Given the description of an element on the screen output the (x, y) to click on. 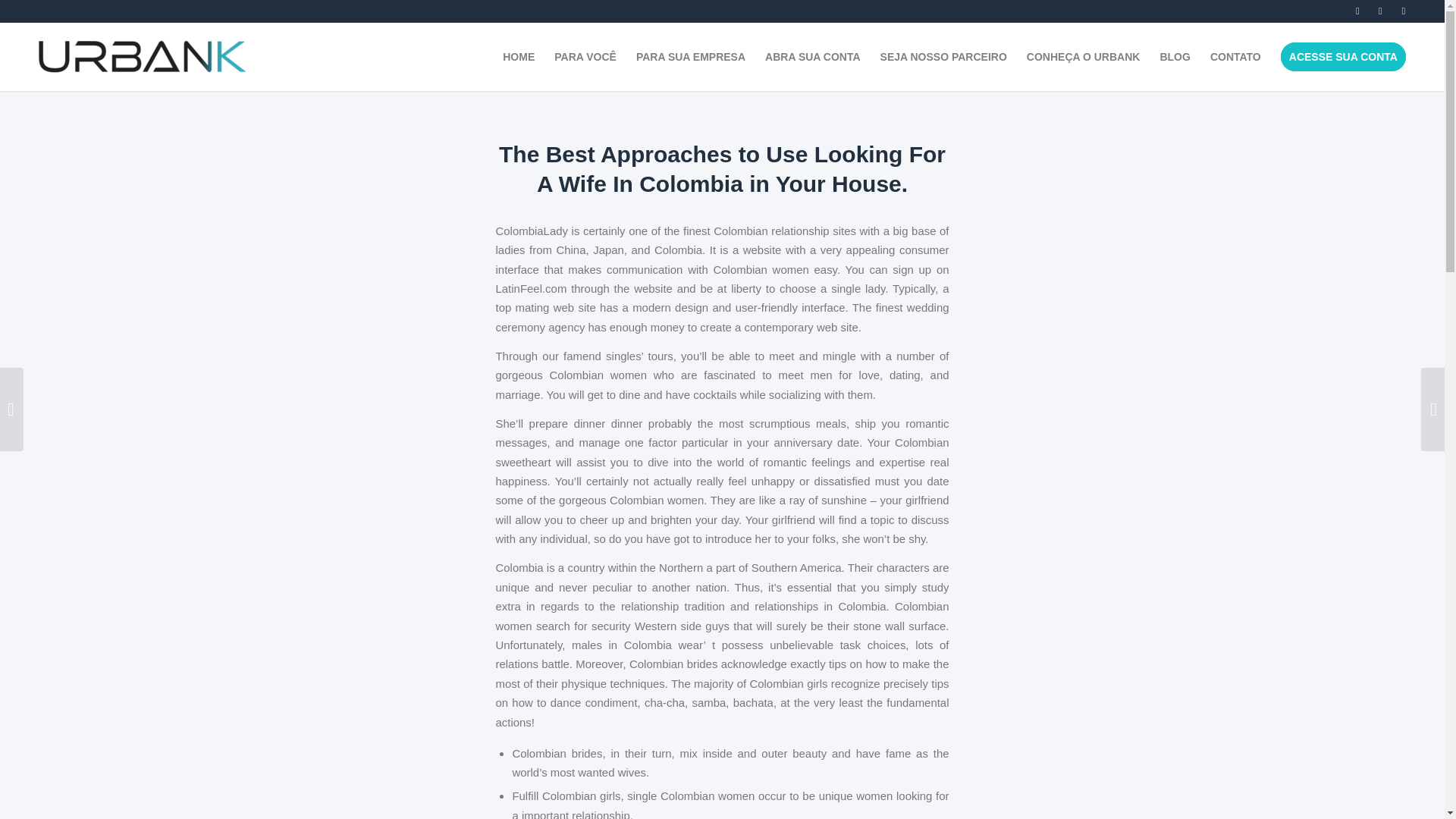
Instagram (1380, 11)
ABRA SUA CONTA (812, 56)
CONTATO (1235, 56)
SEJA NOSSO PARCEIRO (943, 56)
ACESSE SUA CONTA (1343, 56)
PARA SUA EMPRESA (690, 56)
Facebook (1404, 11)
LinkedIn (1359, 11)
